Given the description of an element on the screen output the (x, y) to click on. 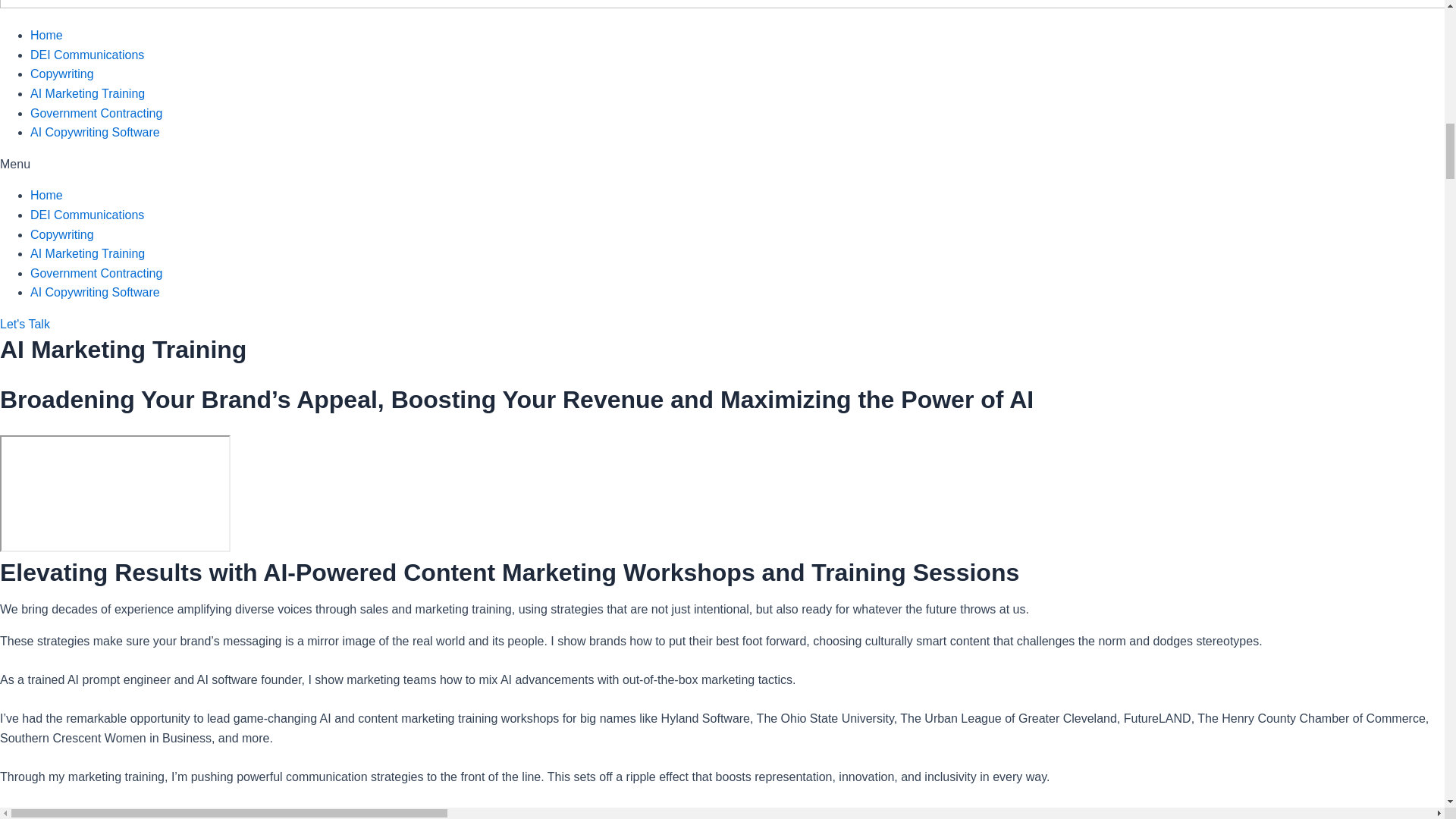
AI Copywriting Software (95, 132)
AI Marketing Training (87, 92)
Home (46, 195)
DEI Communications (87, 214)
Home (46, 34)
Government Contracting (95, 273)
AI Marketing Training (87, 253)
Copywriting (62, 73)
DEI Communications (87, 54)
AI Copywriting Software (95, 291)
